Given the description of an element on the screen output the (x, y) to click on. 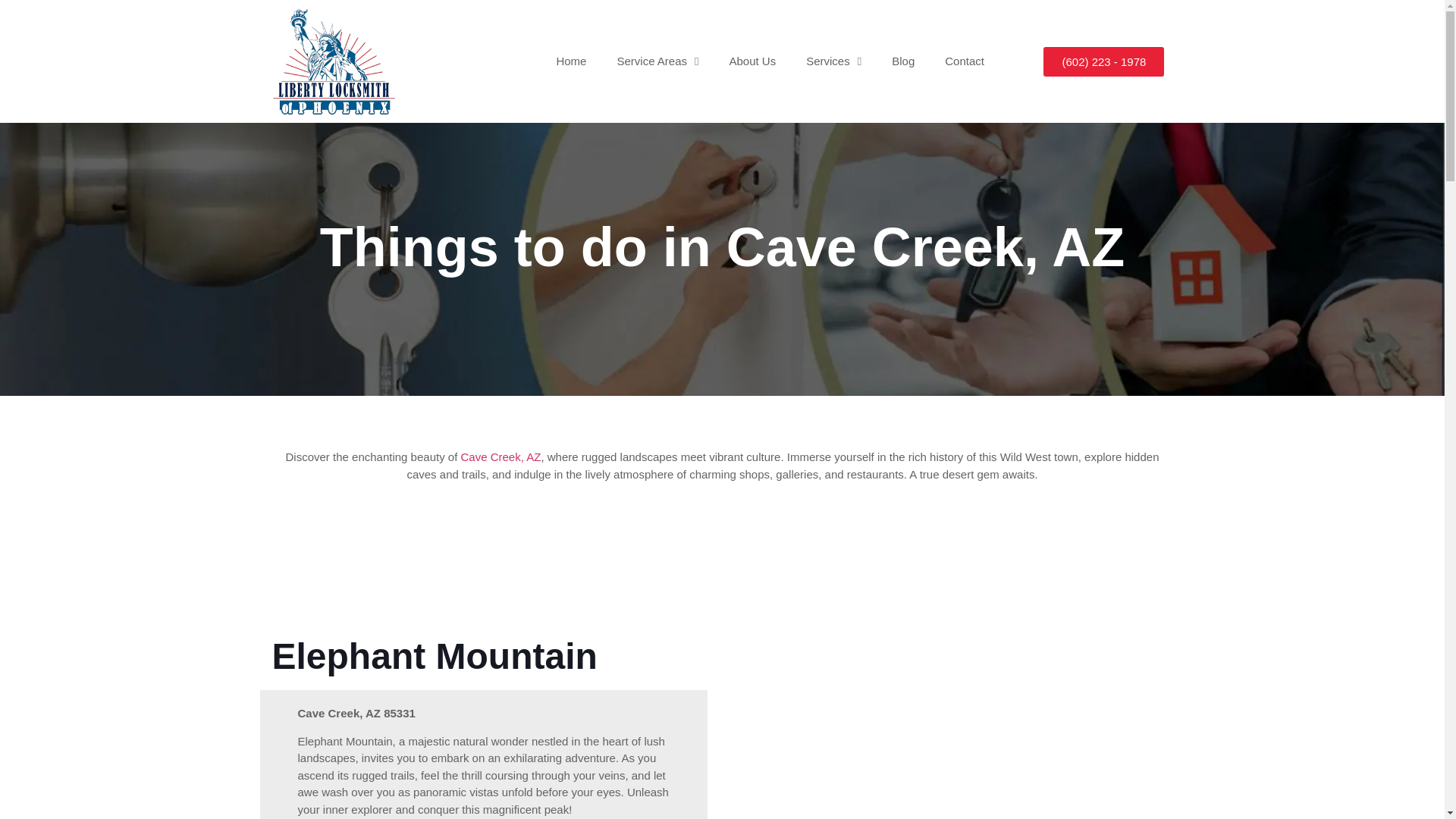
Blog (903, 61)
Services (833, 61)
Home (570, 61)
About Us (751, 61)
Contact (964, 61)
Service Areas (657, 61)
